Given the description of an element on the screen output the (x, y) to click on. 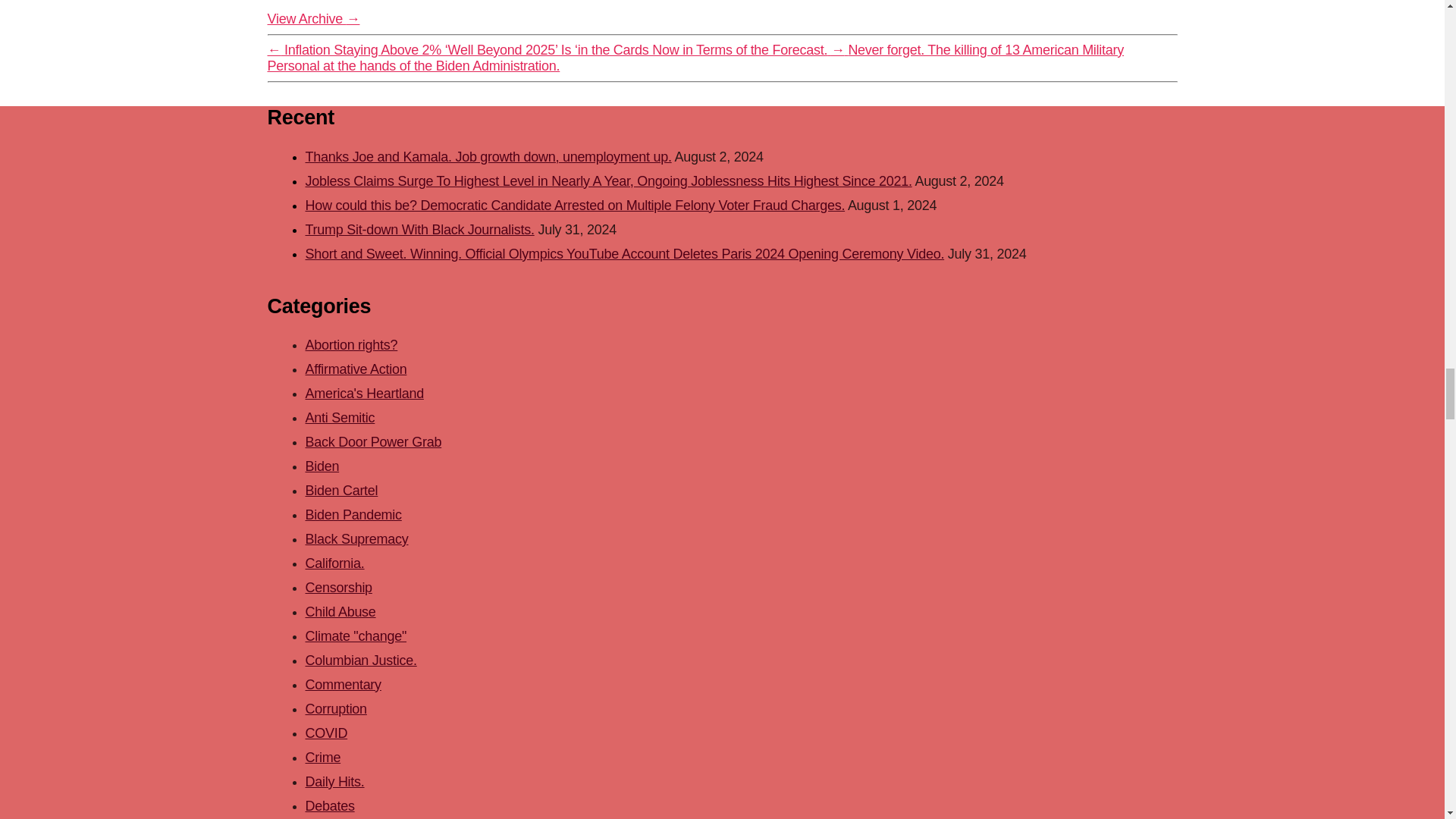
Thanks Joe and Kamala. Job growth down, unemployment up. (487, 156)
